Given the description of an element on the screen output the (x, y) to click on. 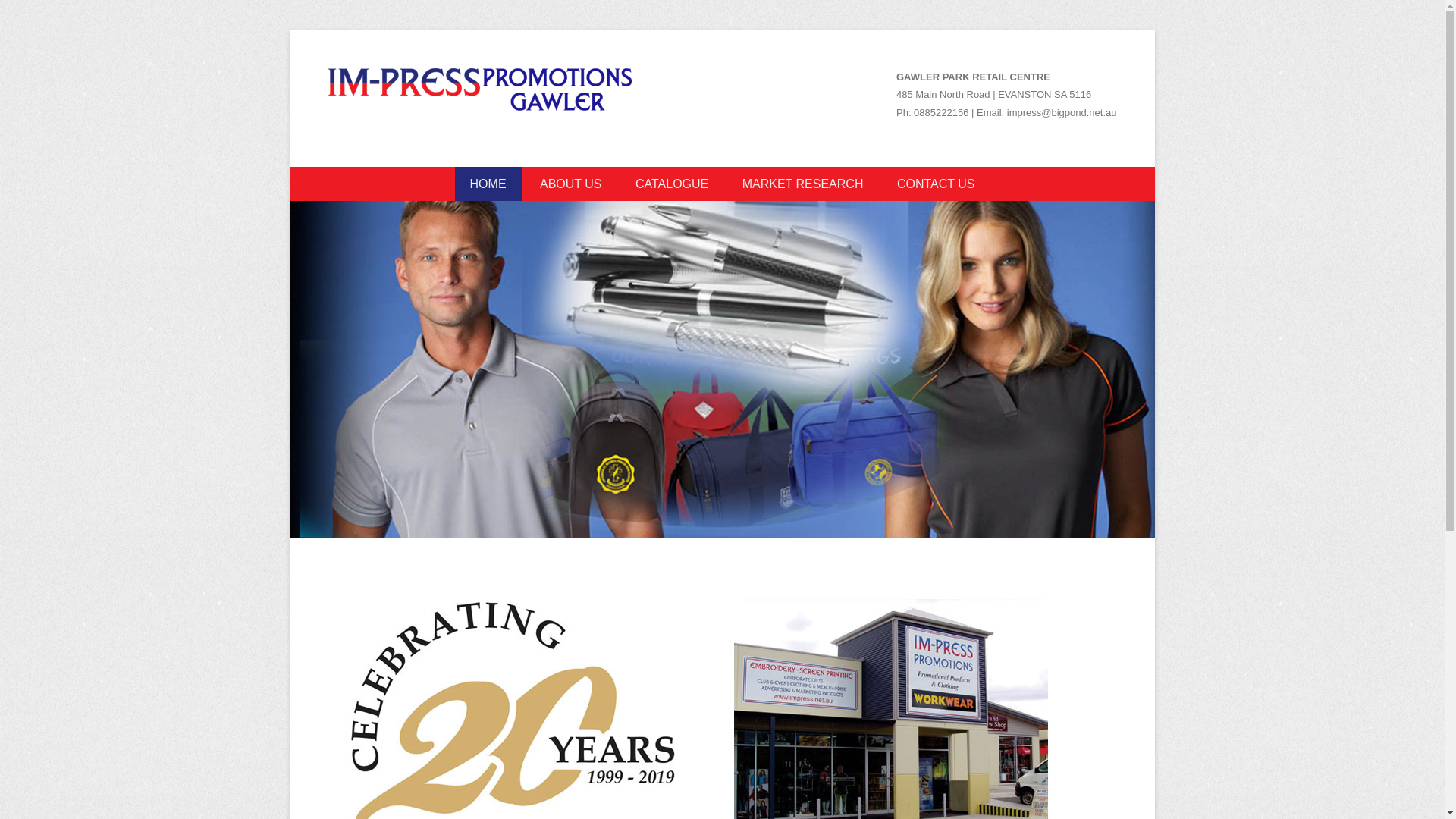
Impress Promotions Gawler Element type: text (537, 140)
impress@bigpond.net.au Element type: text (1062, 112)
Skip to content Element type: text (329, 176)
ABOUT US Element type: text (570, 183)
CATALOGUE Element type: text (671, 183)
CONTACT US Element type: text (935, 183)
Impress Promotions Gawler Element type: hover (478, 90)
HOME Element type: text (488, 183)
MARKET RESEARCH Element type: text (802, 183)
